Given the description of an element on the screen output the (x, y) to click on. 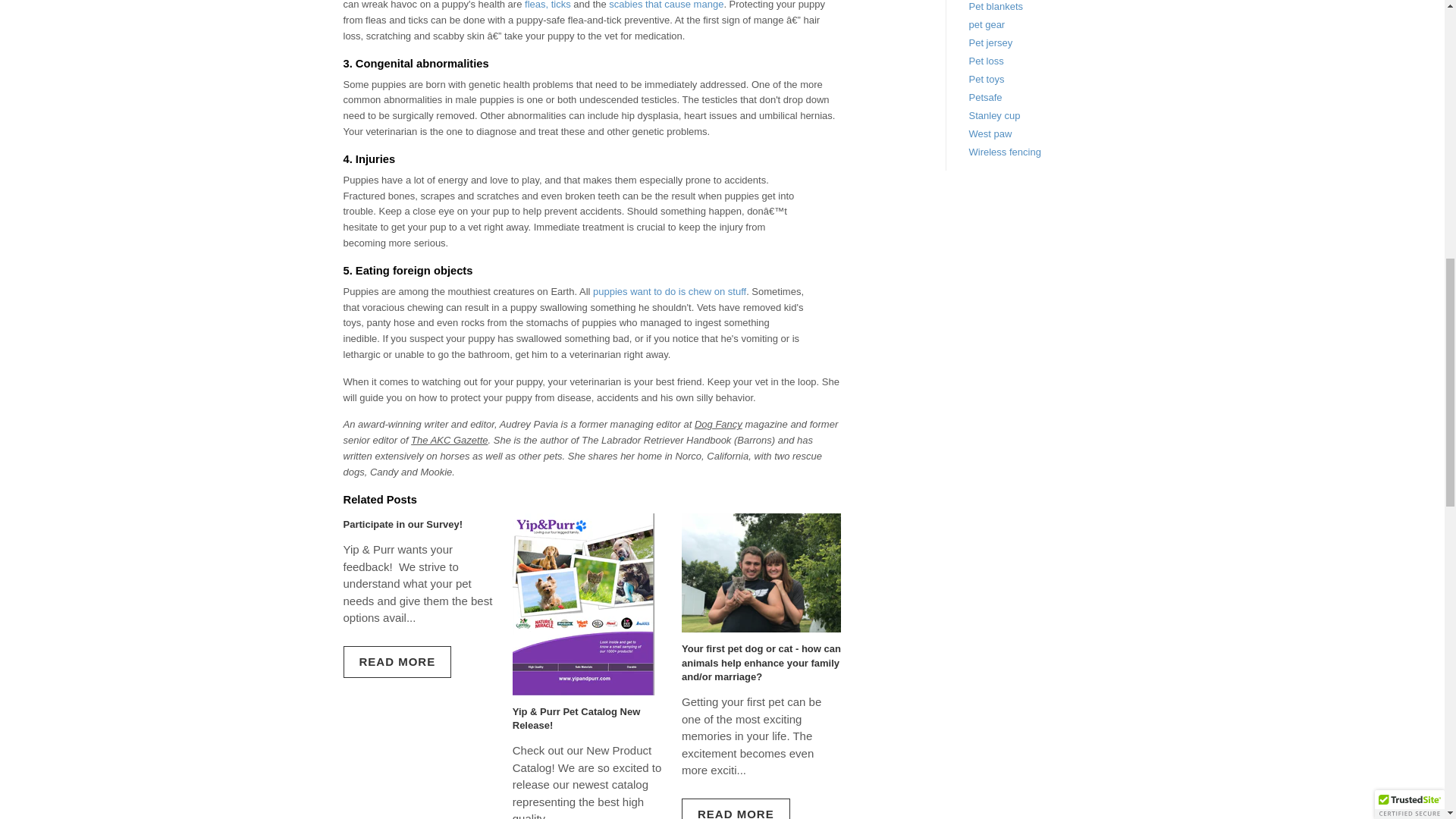
The Regional Guide to Fleas and Ticks on Dogs (547, 4)
